Given the description of an element on the screen output the (x, y) to click on. 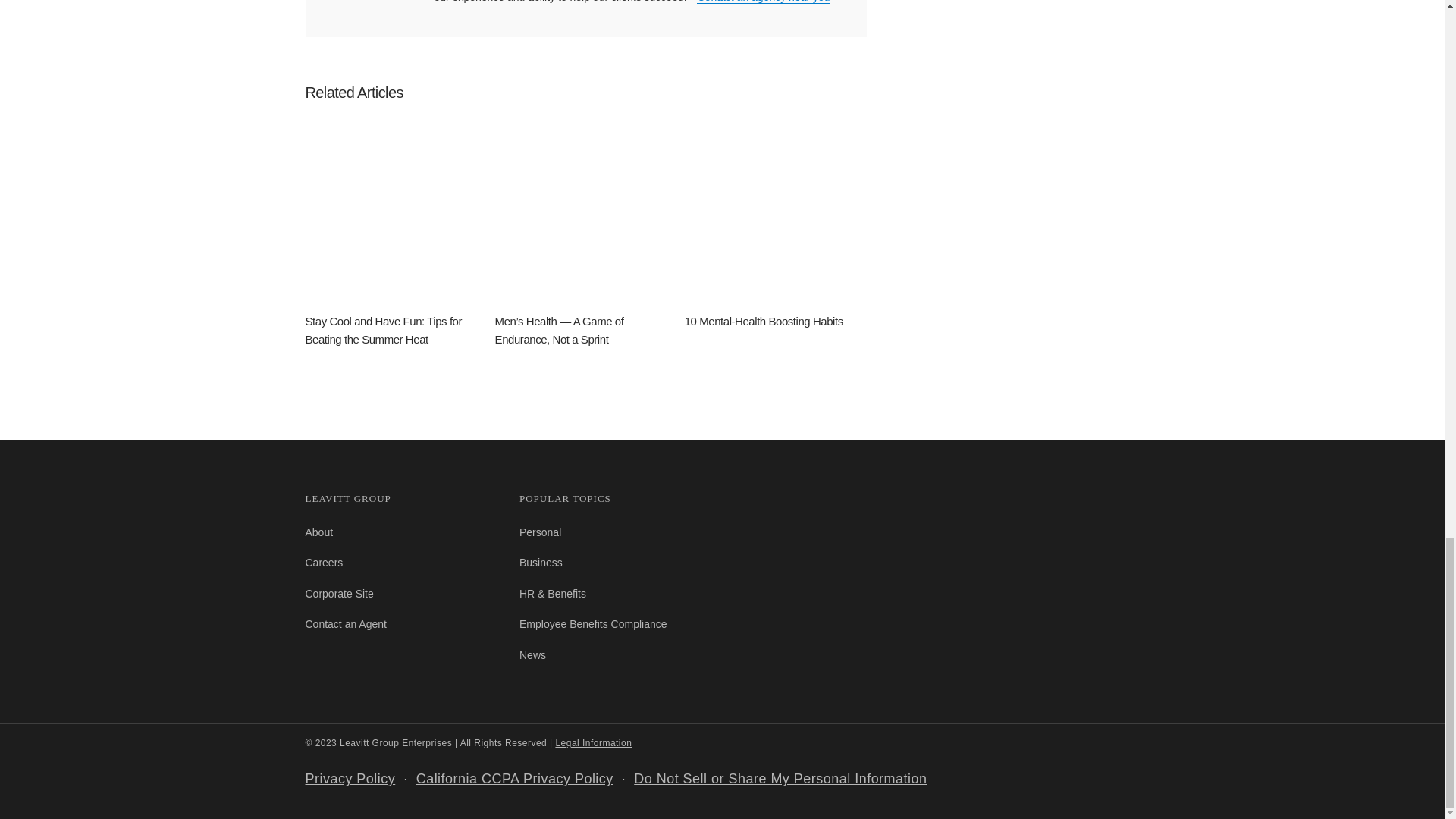
Business (540, 562)
Do Not Sell or Share My Personal Information (779, 778)
About Leavitt Group (318, 532)
10 Mental-Health Boosting Habits (775, 226)
Contact an Agent (344, 623)
Legal Information (592, 742)
California CCPA Privacy Policy (514, 778)
Privacy Policy (349, 778)
Corporate Site (338, 593)
Contact an agency near you (763, 2)
Stay Cool and Have Fun: Tips for Beating the Summer Heat (395, 235)
Employee Benefits Compliance (592, 623)
About (318, 532)
News (532, 654)
Go to Leavitt.com (338, 593)
